Given the description of an element on the screen output the (x, y) to click on. 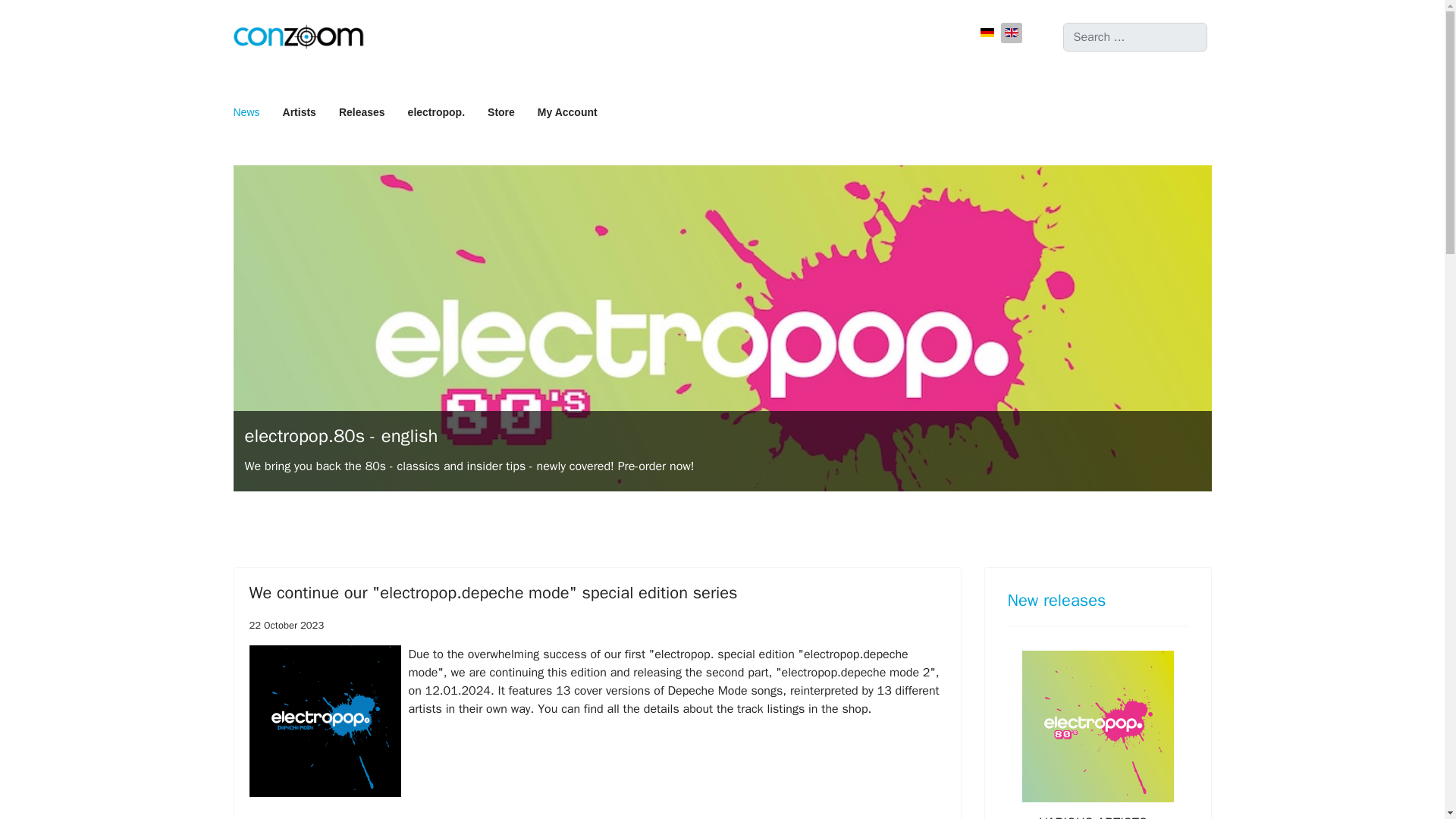
electropop. (436, 111)
Releases (361, 111)
My Account (560, 111)
Published: 22 October 2023 (285, 625)
VARIOUS ARTISTS - electropop.80s (1097, 816)
electropop.80s - english (341, 436)
